Given the description of an element on the screen output the (x, y) to click on. 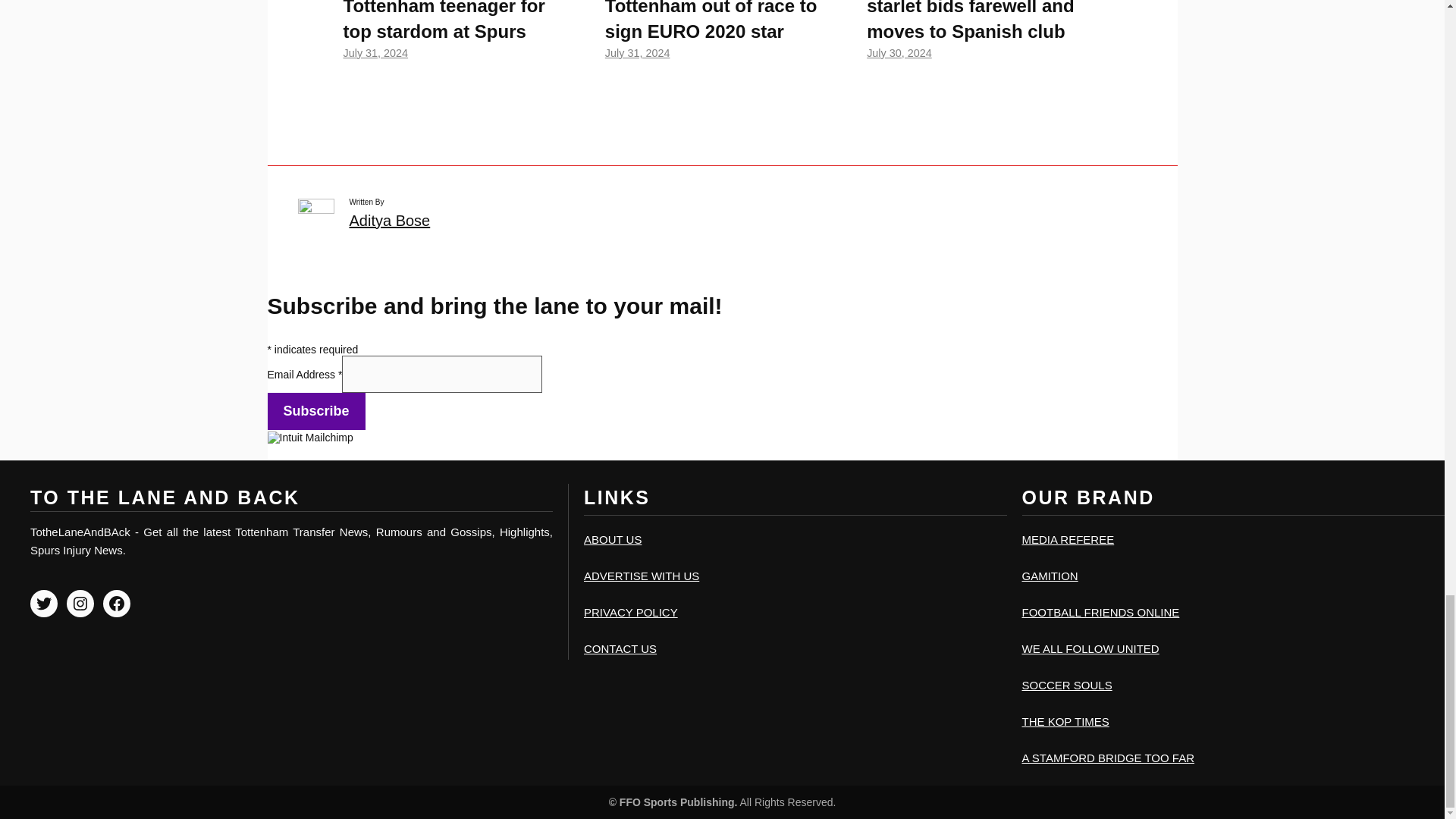
11:00 pm (898, 52)
12:00 am (637, 52)
Mailchimp - email marketing made easy and fun (349, 437)
Subscribe (315, 411)
1:00 am (374, 52)
